Given the description of an element on the screen output the (x, y) to click on. 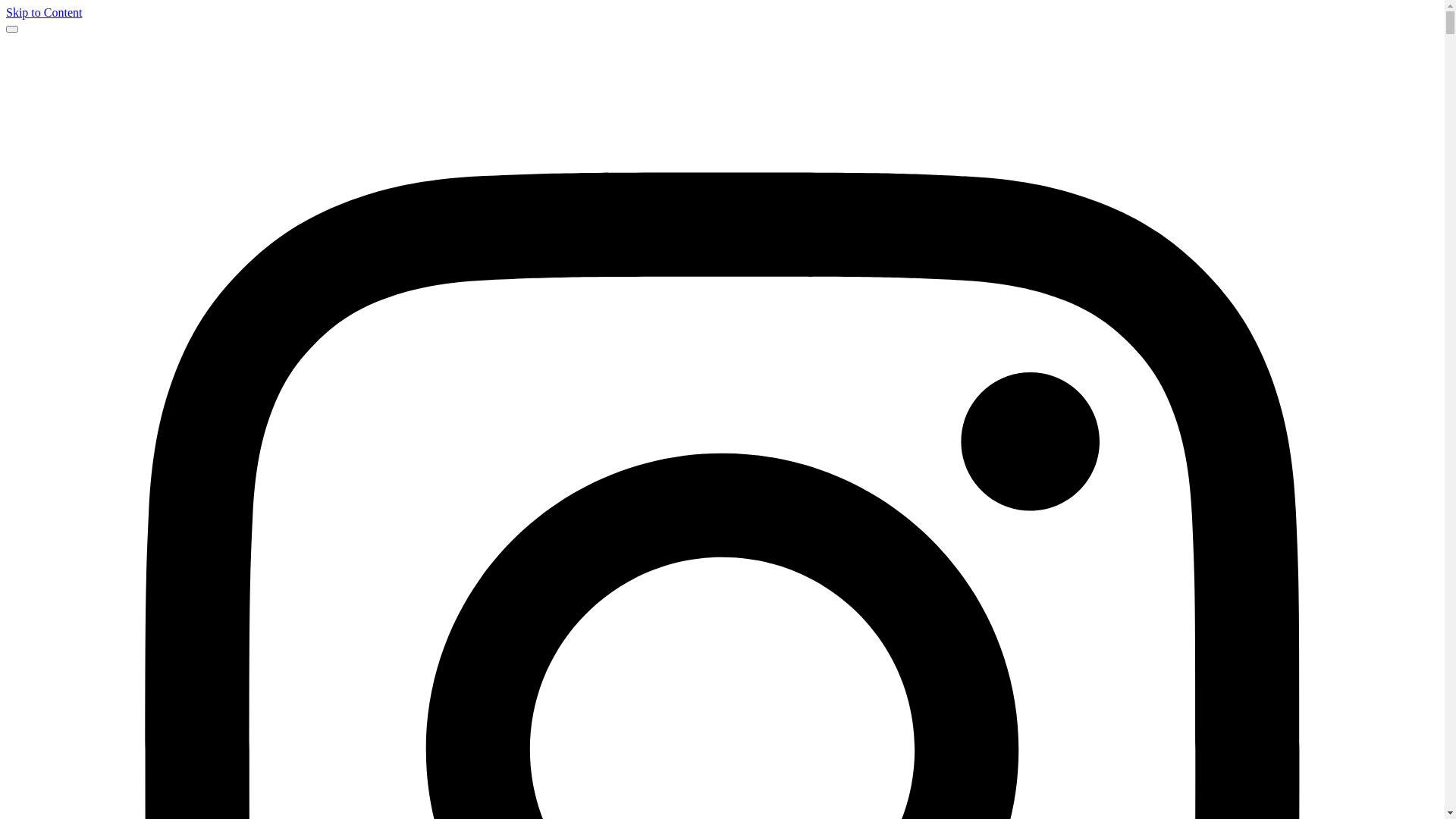
Skip to Content Element type: text (43, 12)
